Given the description of an element on the screen output the (x, y) to click on. 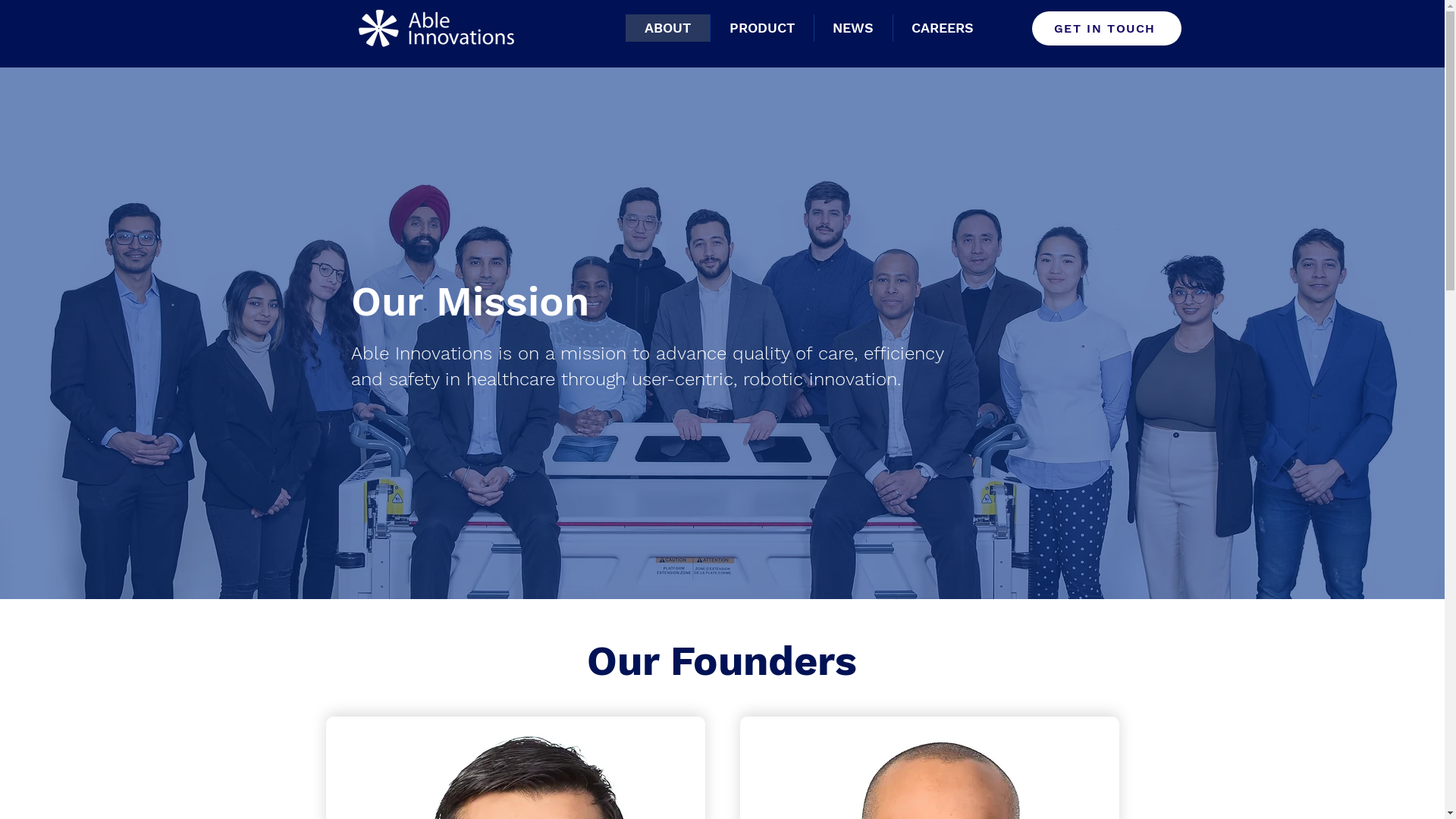
PRODUCT Element type: text (761, 27)
ABOUT Element type: text (666, 27)
NEWS Element type: text (851, 27)
GET IN TOUCH Element type: text (1105, 28)
CAREERS Element type: text (941, 27)
